Given the description of an element on the screen output the (x, y) to click on. 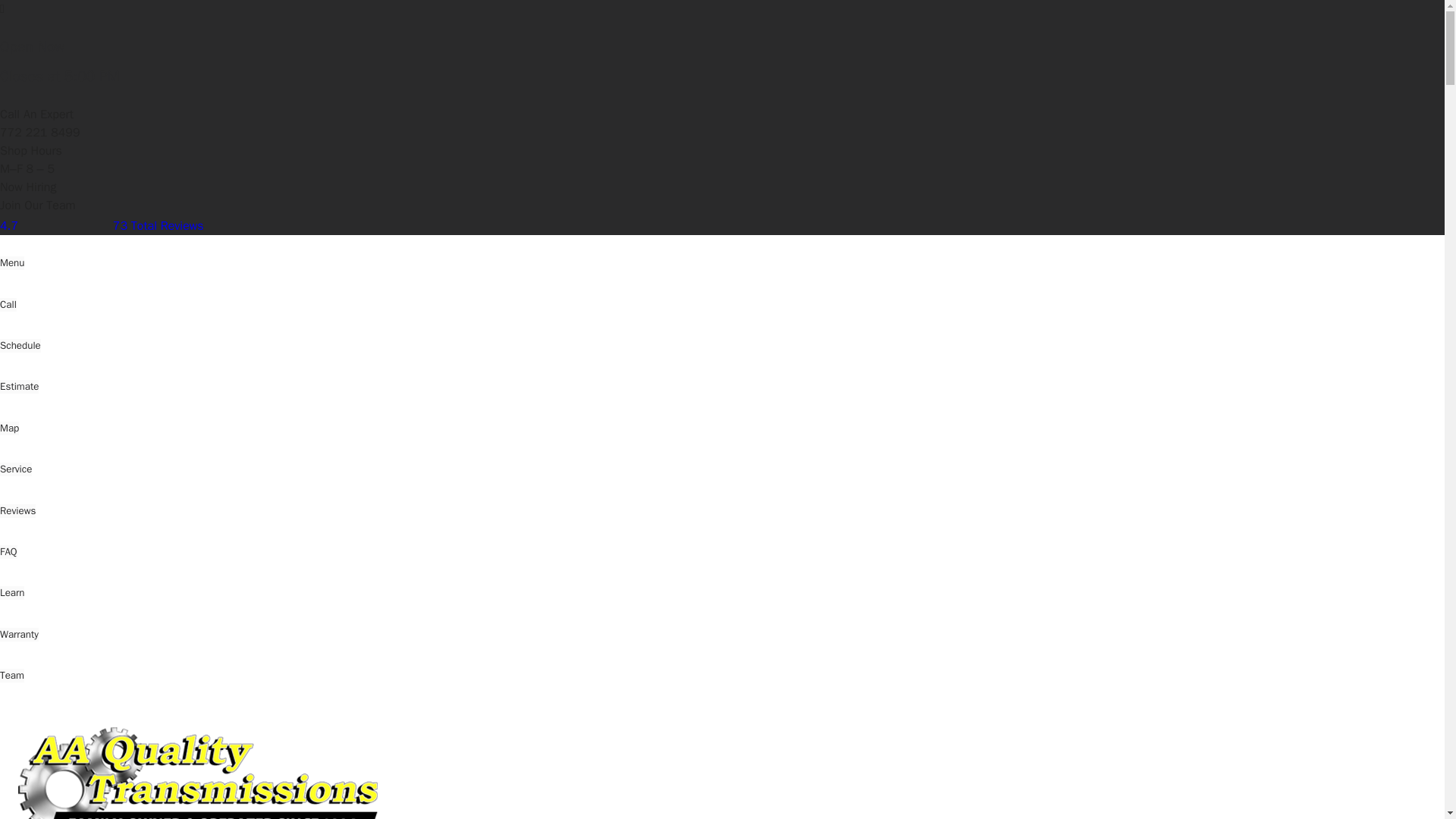
AA Quality Transmissions Services (740, 769)
Warranty (19, 634)
View Serviced Vehicles (387, 769)
Schedule (20, 345)
FAQ (8, 551)
Call (8, 305)
Team (12, 675)
4.7 73 Total Reviews (101, 225)
Reviews (17, 510)
Learn (12, 592)
